Given the description of an element on the screen output the (x, y) to click on. 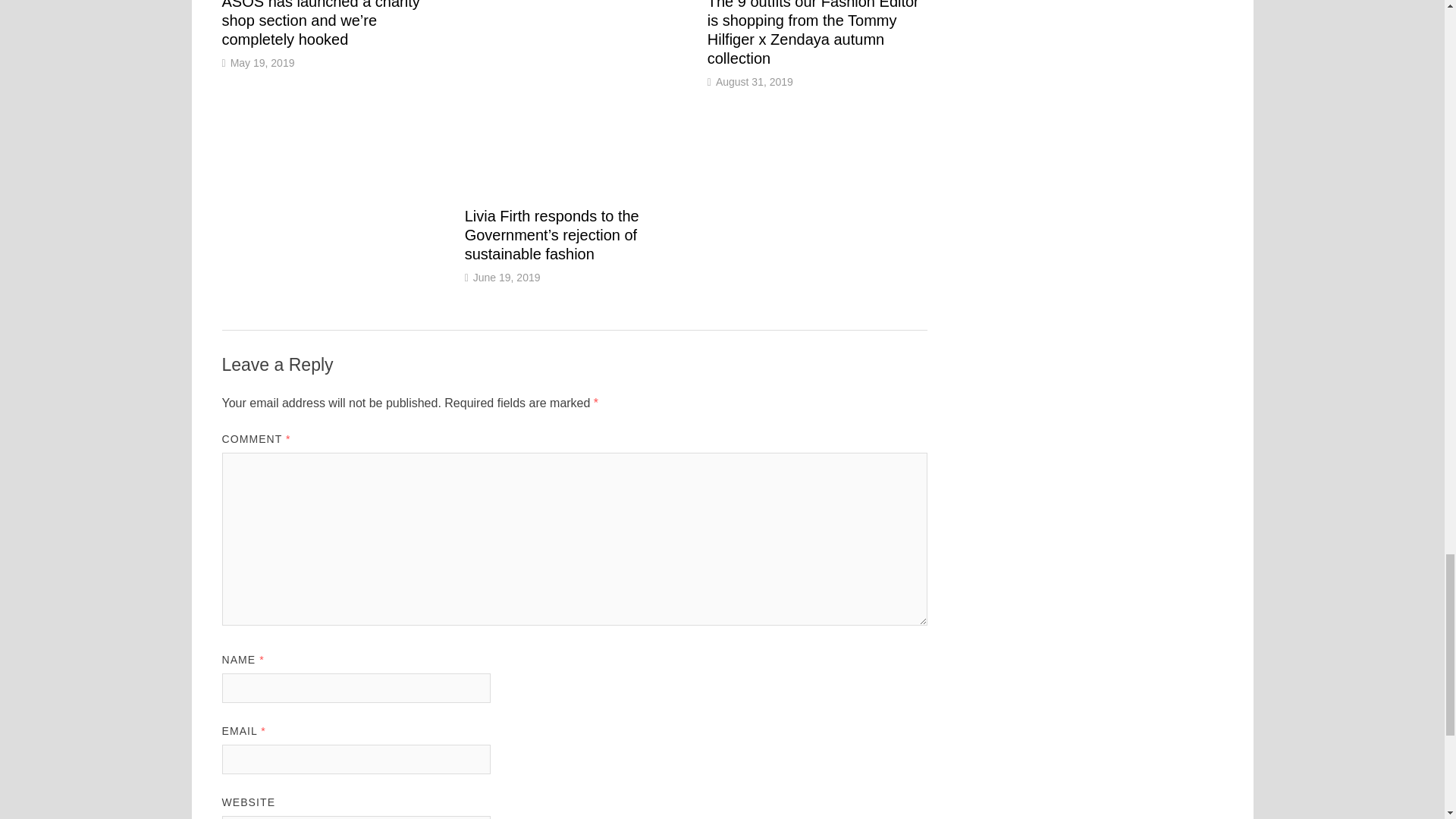
June 19, 2019 (506, 277)
May 19, 2019 (262, 62)
August 31, 2019 (754, 81)
